Given the description of an element on the screen output the (x, y) to click on. 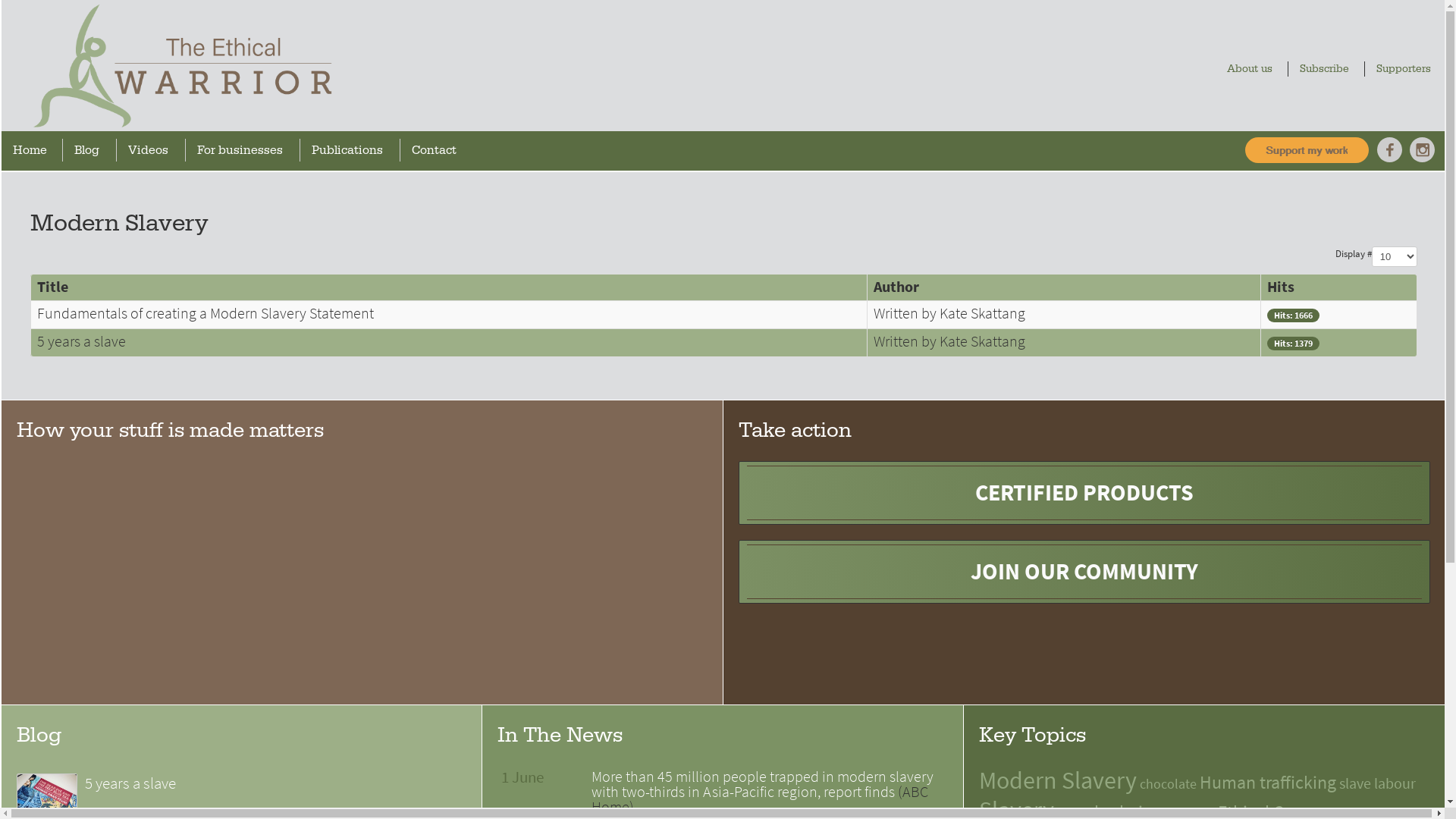
Contact Element type: text (437, 149)
Title Element type: text (52, 286)
5 years a slave Element type: text (81, 341)
Fundamentals of creating a Modern Slavery Statement Element type: text (205, 313)
Supporters Element type: text (1407, 68)
Home Element type: text (33, 149)
JOIN OUR COMMUNITY Element type: text (1083, 571)
Videos Element type: text (152, 149)
Blog Element type: text (91, 149)
chocolate Element type: text (1167, 784)
CERTIFIED PRODUCTS Element type: text (1083, 492)
5 years a slave Element type: text (275, 782)
For businesses Element type: text (244, 149)
Subscribe Element type: text (1327, 68)
Author Element type: text (896, 286)
Publications Element type: text (351, 149)
Hits Element type: text (1280, 286)
Modern Slavery Element type: text (1057, 779)
(ABC Home) Element type: text (759, 799)
Human trafficking Element type: text (1267, 781)
slave labour Element type: text (1377, 783)
About us Element type: text (1253, 68)
